Given the description of an element on the screen output the (x, y) to click on. 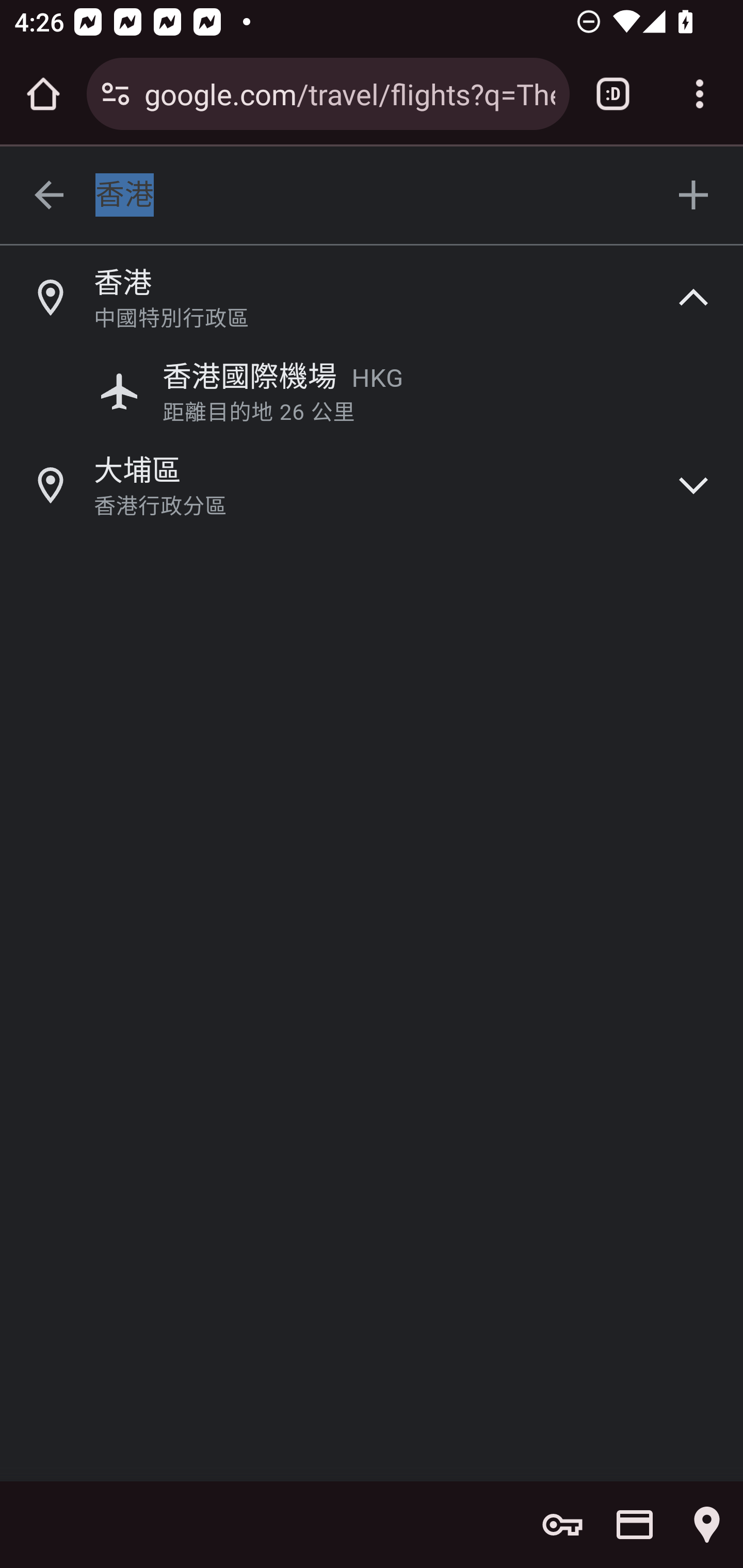
Open the home page (43, 93)
Connection is secure (115, 93)
Switch or close tabs (612, 93)
Customize and control Google Chrome (699, 93)
上一頁 (48, 195)
香港 (372, 195)
出發地, 選擇多個機場 (694, 195)
切換香港附近的機場 (694, 296)
切換大埔區附近的機場 (694, 484)
Show saved passwords and password options (562, 1524)
Show saved payment methods (634, 1524)
Show saved addresses (706, 1524)
